Given the description of an element on the screen output the (x, y) to click on. 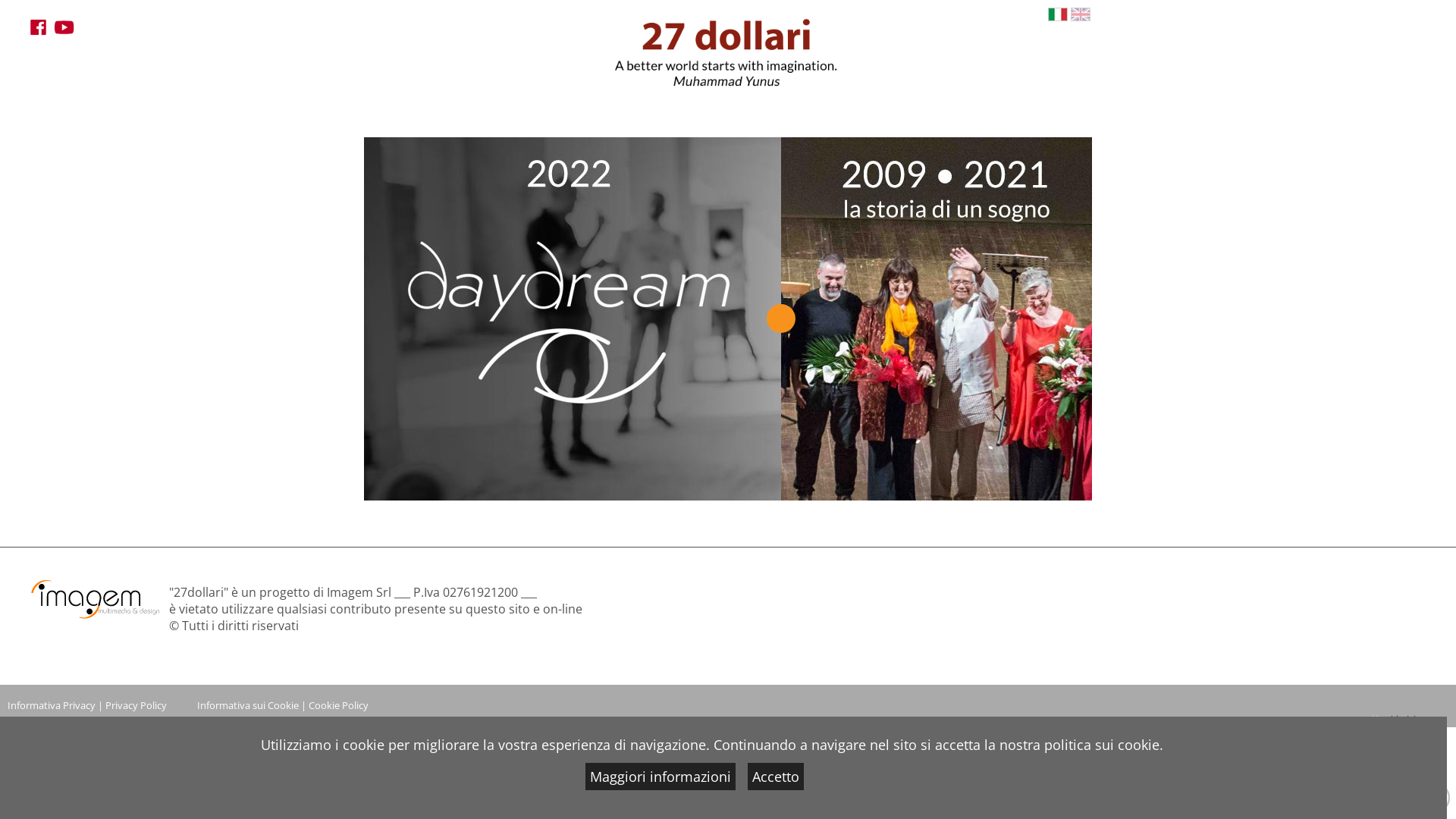
logo-27-dollari-testo-new.png Element type: hover (725, 61)
Accetto Element type: text (775, 776)
Inglese Element type: hover (1080, 14)
Informativa Privacy | Privacy Policy Element type: text (86, 705)
Maggiori informazioni Element type: text (660, 776)
Italiano Element type: hover (1057, 14)
Informativa sui Cookie | Cookie Policy Element type: text (282, 705)
chipslab.net Element type: text (1409, 717)
